Given the description of an element on the screen output the (x, y) to click on. 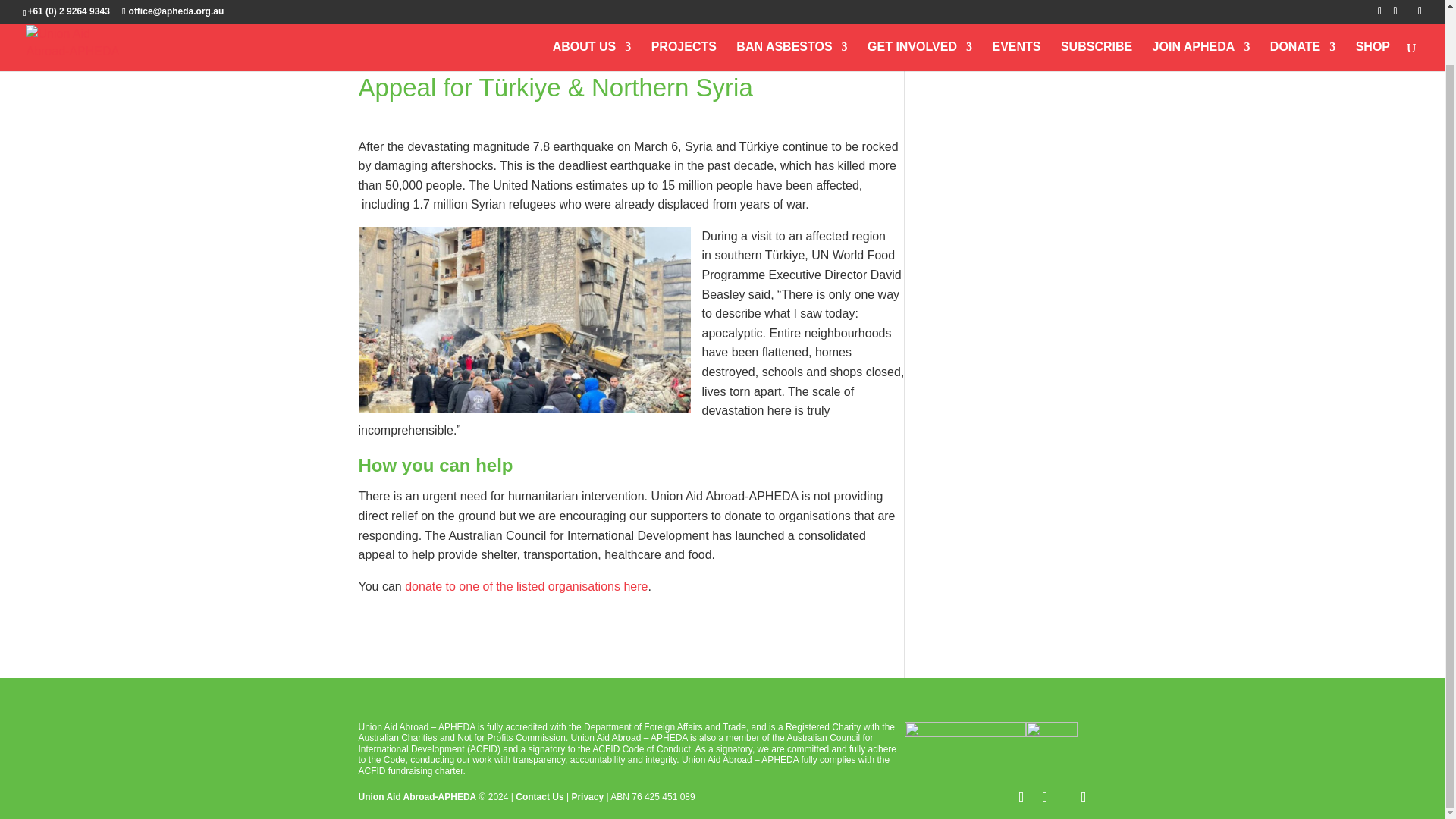
BAN ASBESTOS (791, 6)
GET INVOLVED (919, 6)
ABOUT US (592, 6)
PROJECTS (683, 6)
DONATE (1302, 6)
EVENTS (1016, 6)
SUBSCRIBE (1096, 6)
JOIN APHEDA (1201, 6)
